Given the description of an element on the screen output the (x, y) to click on. 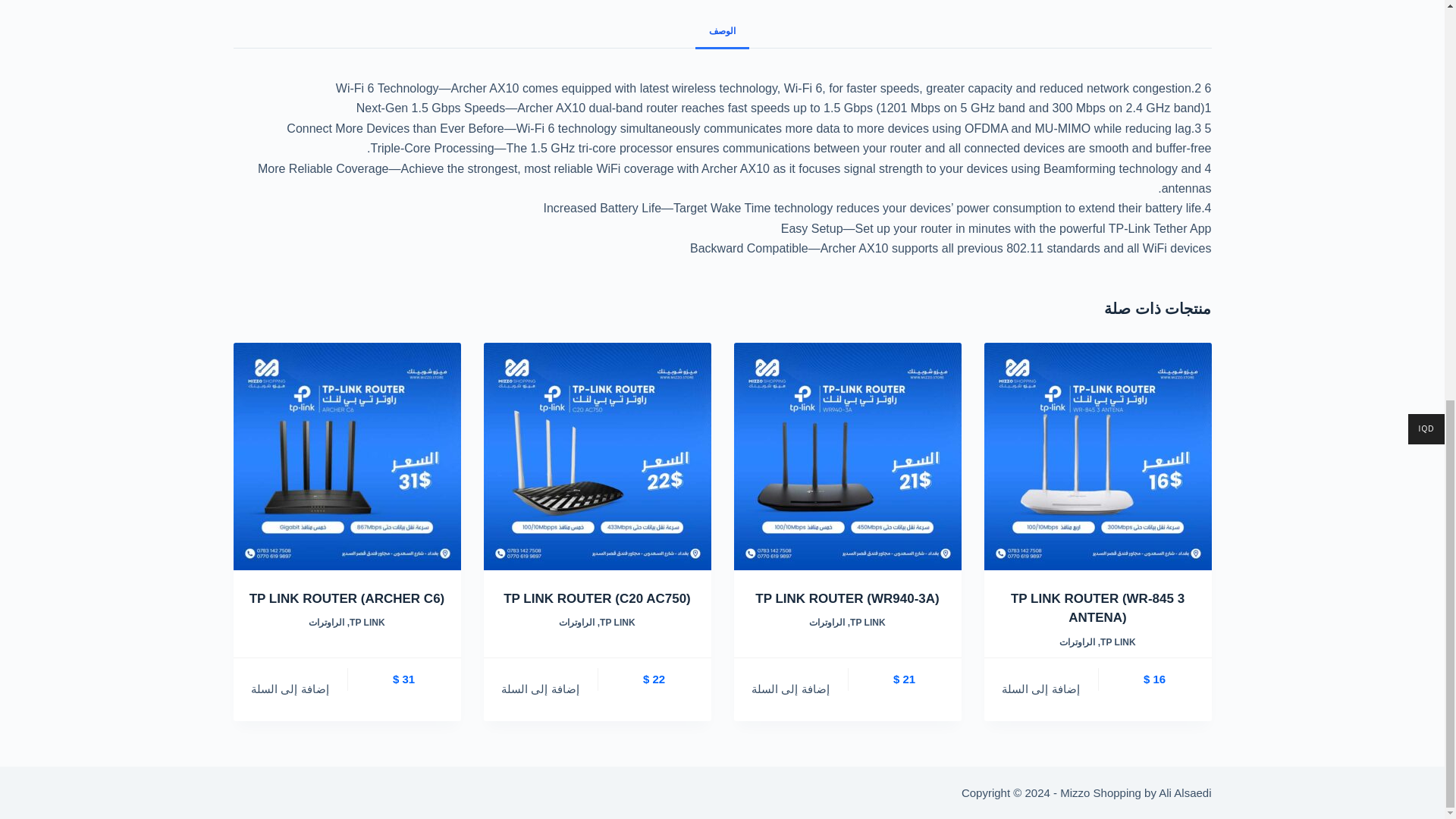
TP LINK (1117, 642)
1 (1097, 456)
1 (346, 456)
AAAAAAAAAAAAA (846, 456)
44 (597, 456)
